Given the description of an element on the screen output the (x, y) to click on. 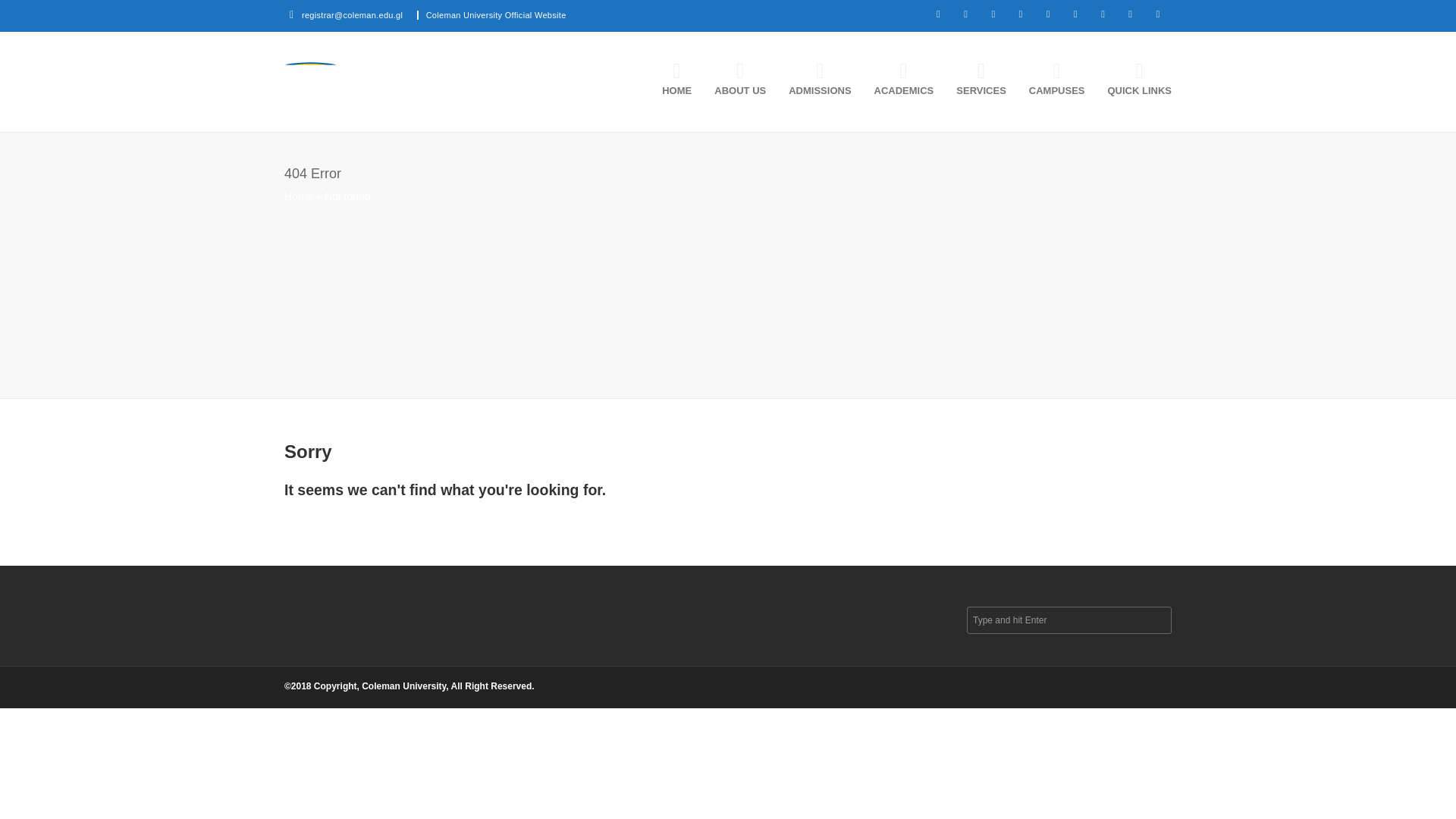
Twitter (937, 13)
Facebook (965, 13)
Linkedin (1020, 13)
Google Plus (993, 13)
Coleman University (398, 85)
Vimeo (1074, 13)
ADMISSIONS (812, 81)
Flickr (1102, 13)
ABOUT US (732, 81)
Youtube (1047, 13)
